Given the description of an element on the screen output the (x, y) to click on. 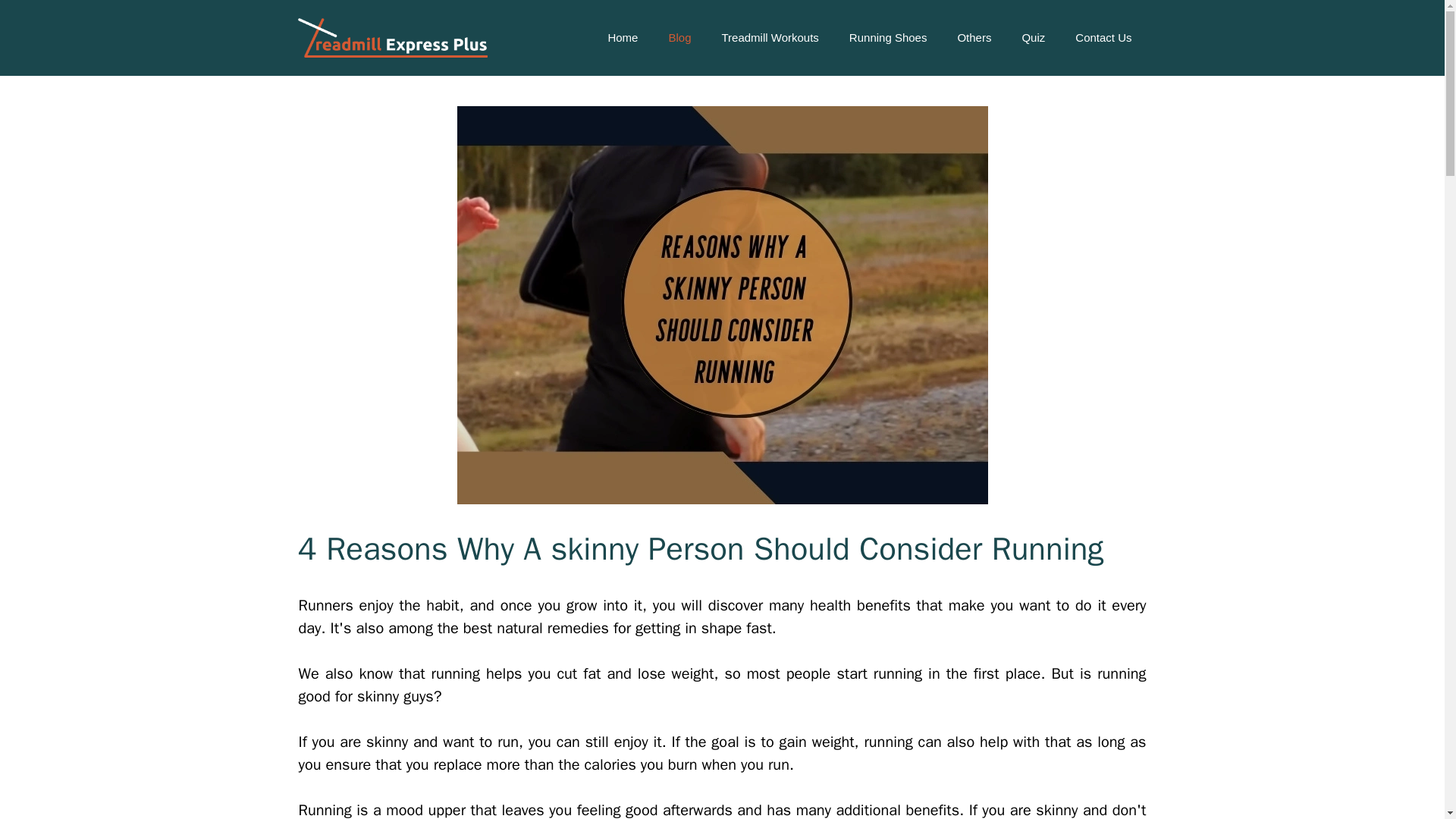
Contact Us (1103, 37)
Quiz (1032, 37)
Others (974, 37)
Blog (679, 37)
Treadmill Workouts (769, 37)
Running Shoes (888, 37)
Home (622, 37)
